Given the description of an element on the screen output the (x, y) to click on. 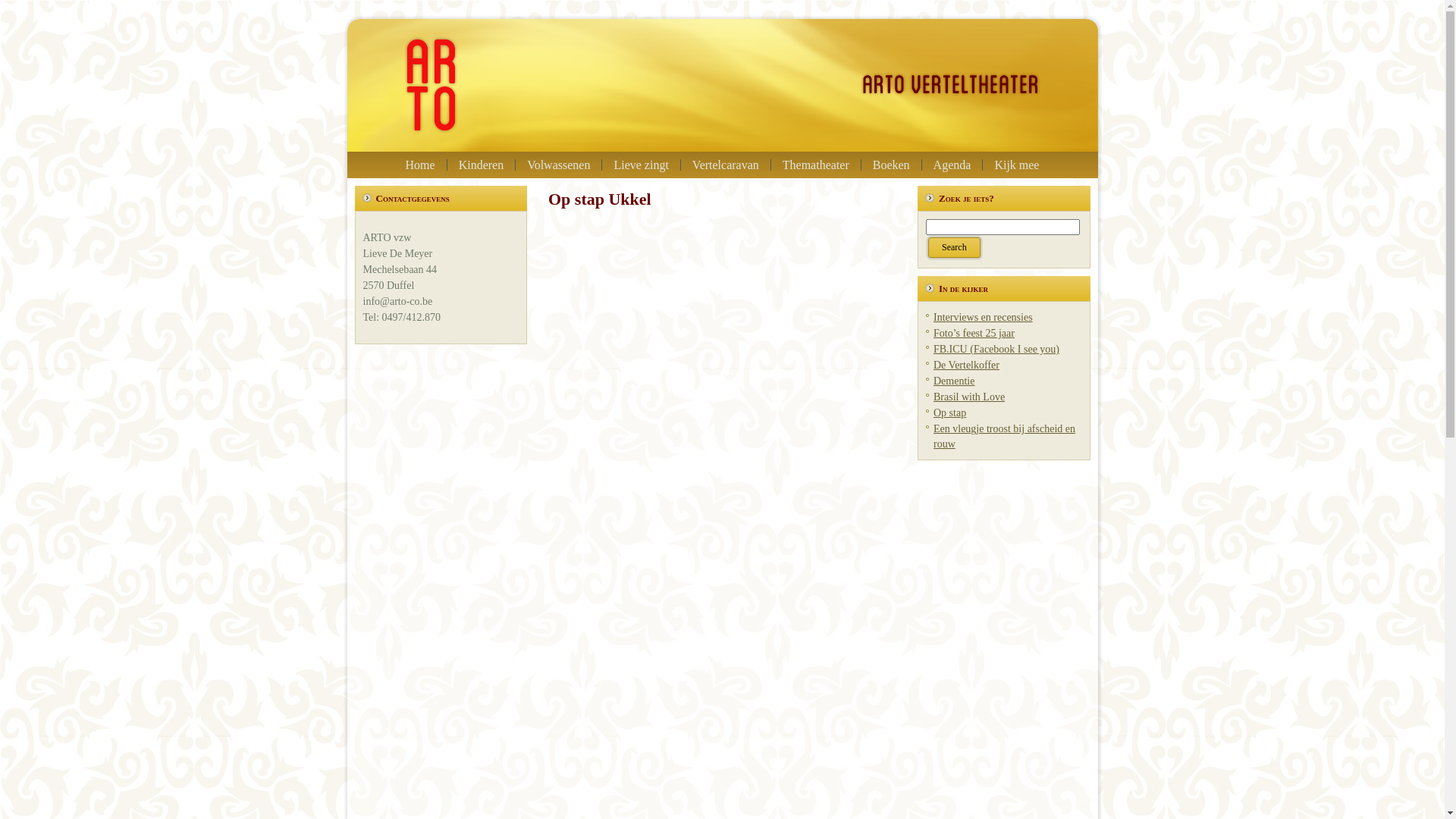
Kinderen Element type: text (481, 164)
Agenda Element type: text (952, 164)
FB.ICU (Facebook I see you) Element type: text (996, 348)
Een vleugje troost bij afscheid en rouw Element type: text (1004, 436)
Volwassenen Element type: text (558, 164)
Kijk mee Element type: text (1016, 164)
Brasil with Love Element type: text (968, 396)
De Vertelkoffer Element type: text (966, 364)
Vertelcaravan Element type: text (725, 164)
Home Element type: text (420, 164)
Dementie Element type: text (953, 380)
Thematheater Element type: text (815, 164)
Op stap Ukkel Element type: text (599, 198)
Lieve zingt Element type: text (640, 164)
Search Element type: text (953, 247)
Op stap Element type: text (949, 412)
Boeken Element type: text (891, 164)
Interviews en recensies Element type: text (982, 317)
